Given the description of an element on the screen output the (x, y) to click on. 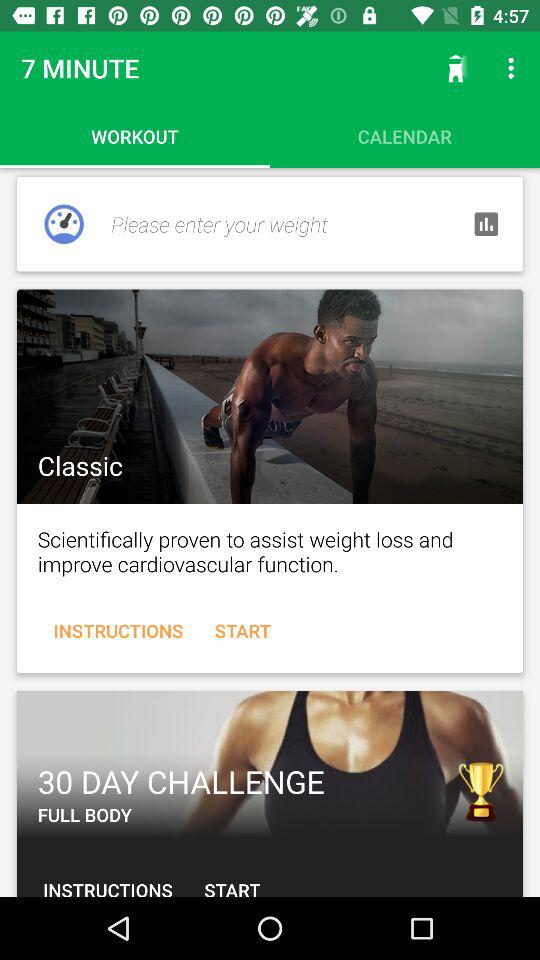
go to classic mode (269, 396)
